Given the description of an element on the screen output the (x, y) to click on. 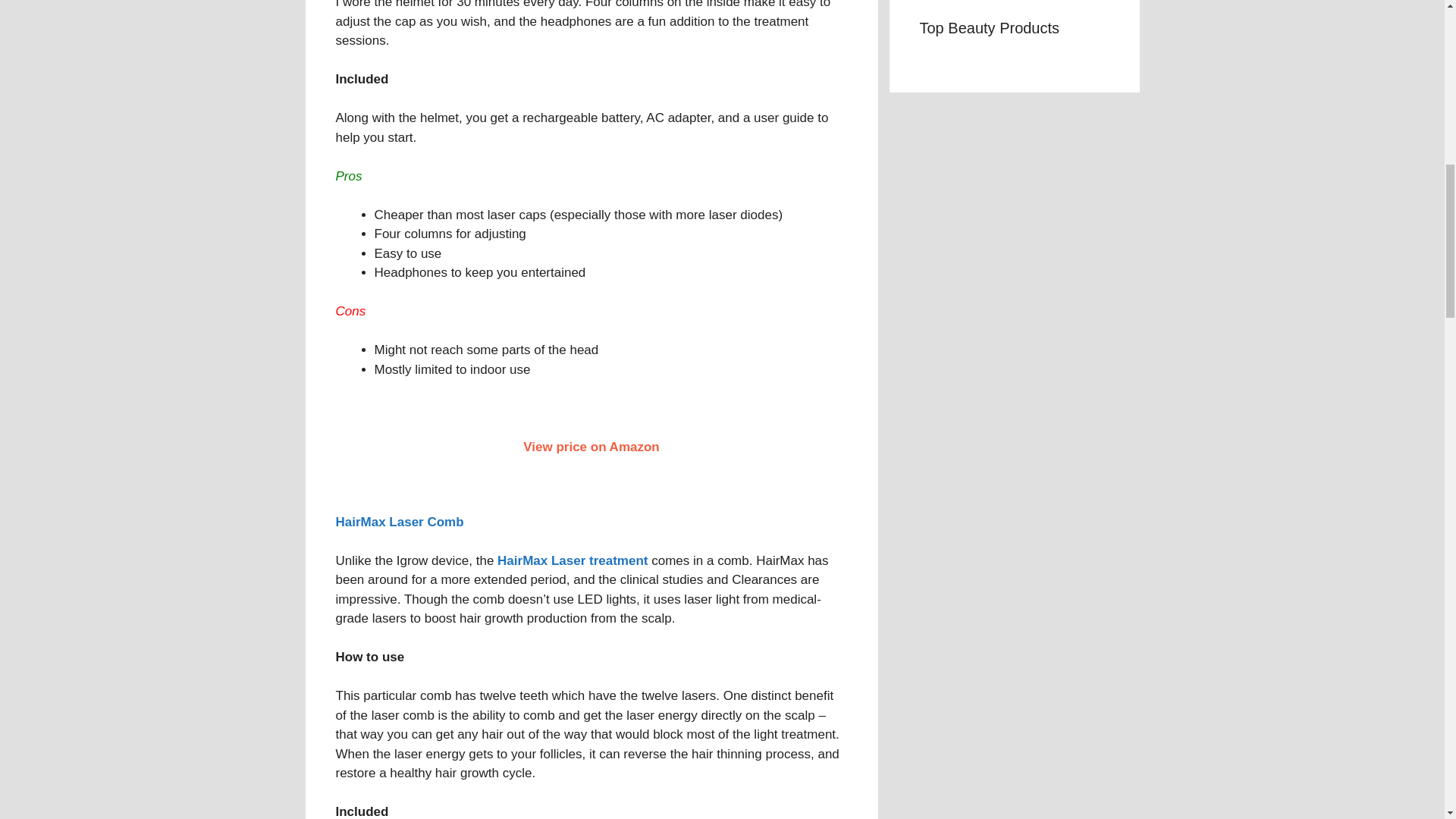
View price on Amazon (590, 446)
HairMax Laser Comb (398, 522)
HairMax Laser treatment (572, 560)
